Given the description of an element on the screen output the (x, y) to click on. 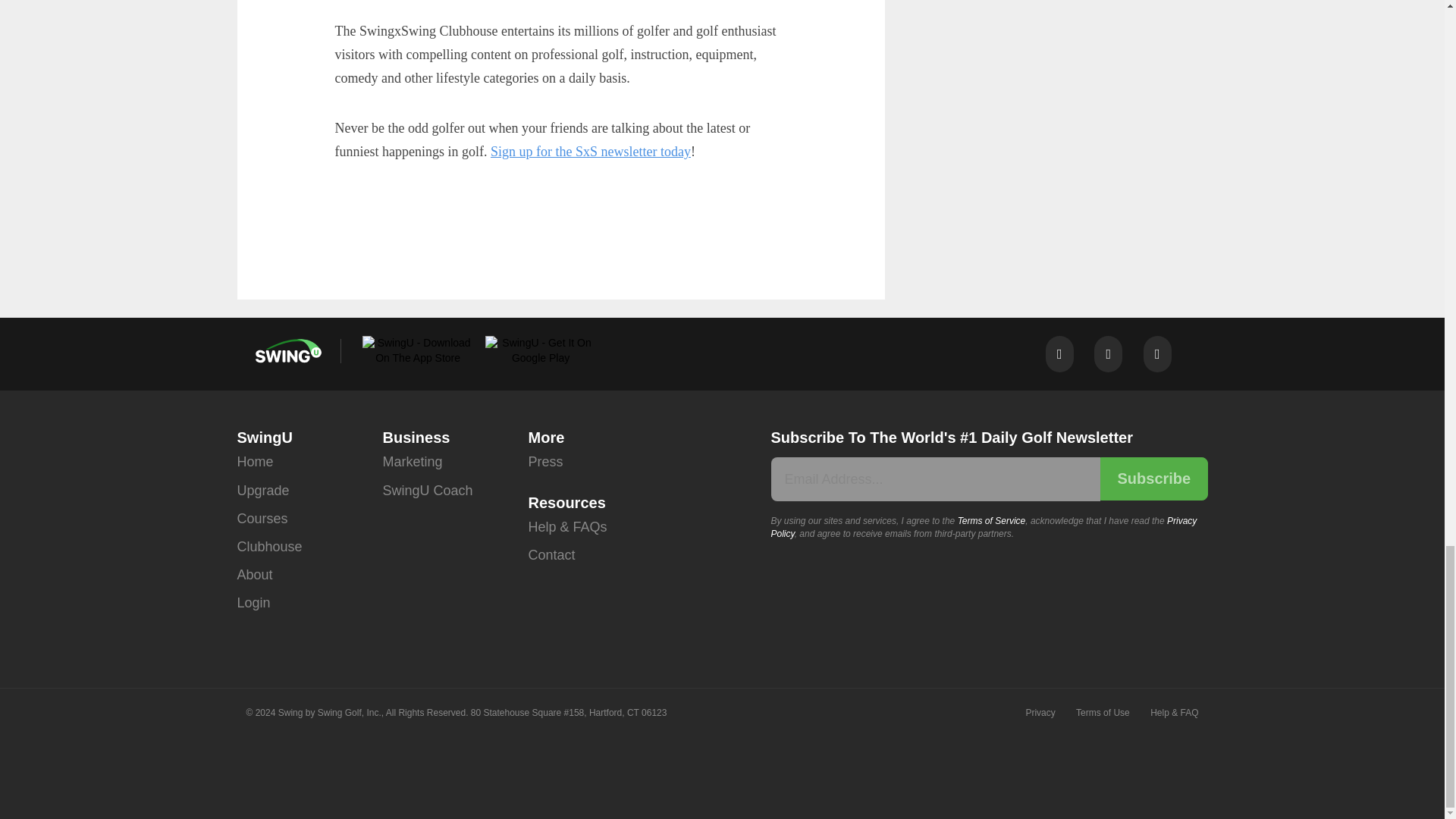
About (253, 574)
Press (544, 461)
Subscribe (1153, 478)
SwingU Coach (426, 490)
Sign up for the SxS newsletter today (590, 151)
Privacy Policy (983, 526)
Upgrade (261, 490)
Contact (551, 555)
Terms of Service (992, 520)
Login (252, 602)
Marketing (411, 461)
Terms of Use (1102, 712)
Home (254, 461)
Courses (260, 519)
Privacy (1039, 712)
